Given the description of an element on the screen output the (x, y) to click on. 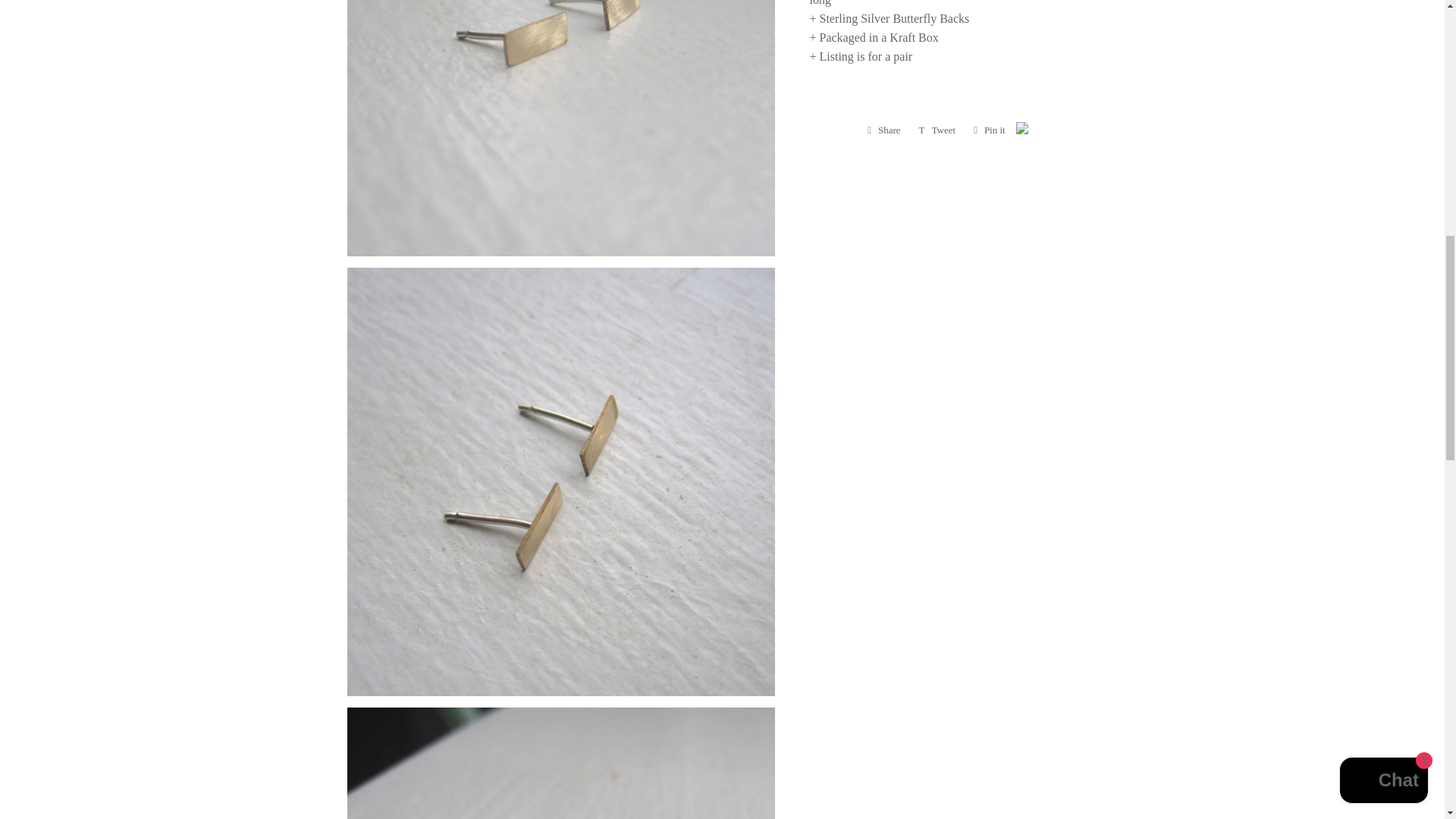
Pin on Pinterest (989, 129)
Share on Facebook (883, 129)
Tweet on Twitter (937, 129)
